Given the description of an element on the screen output the (x, y) to click on. 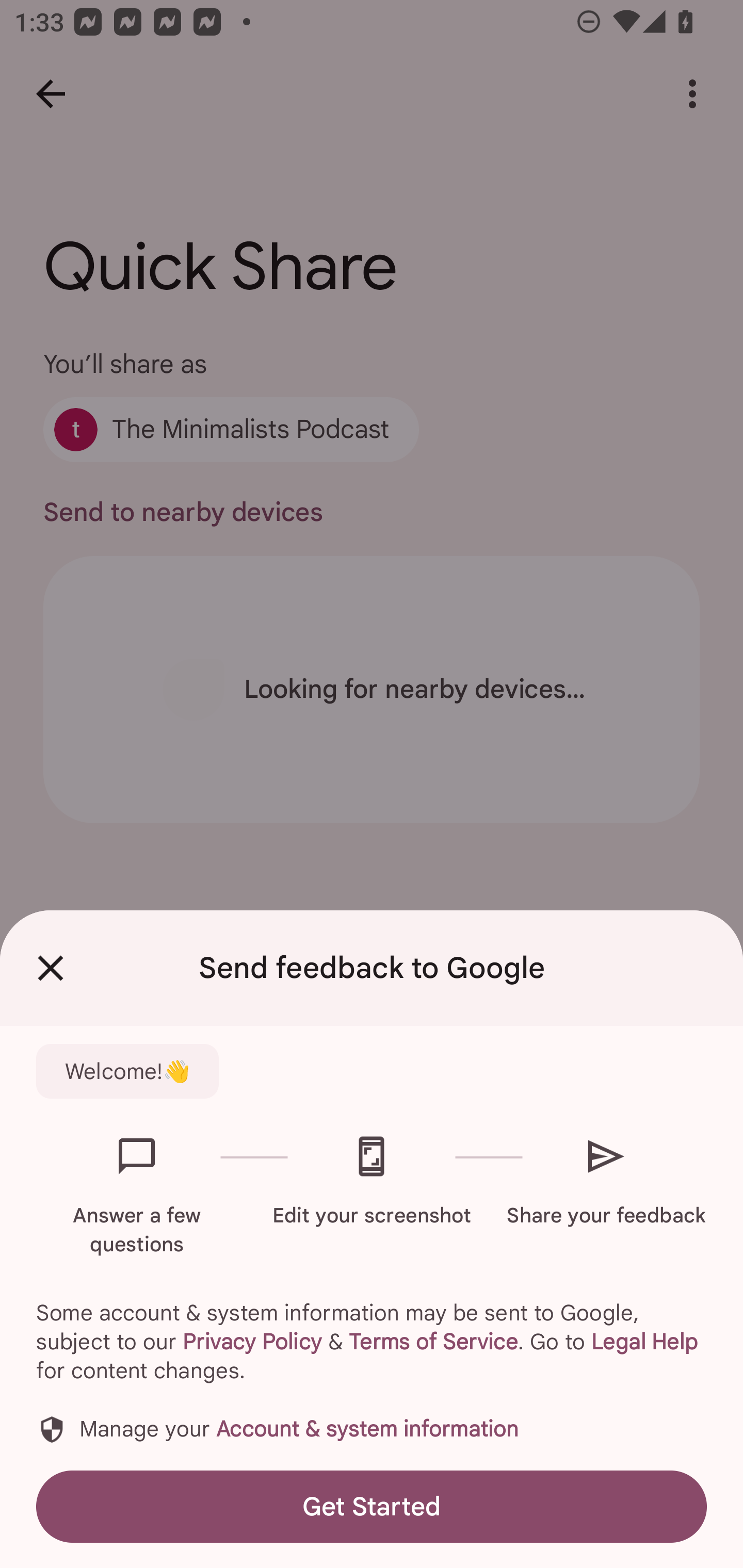
Close Feedback (50, 968)
Get Started (371, 1505)
